Given the description of an element on the screen output the (x, y) to click on. 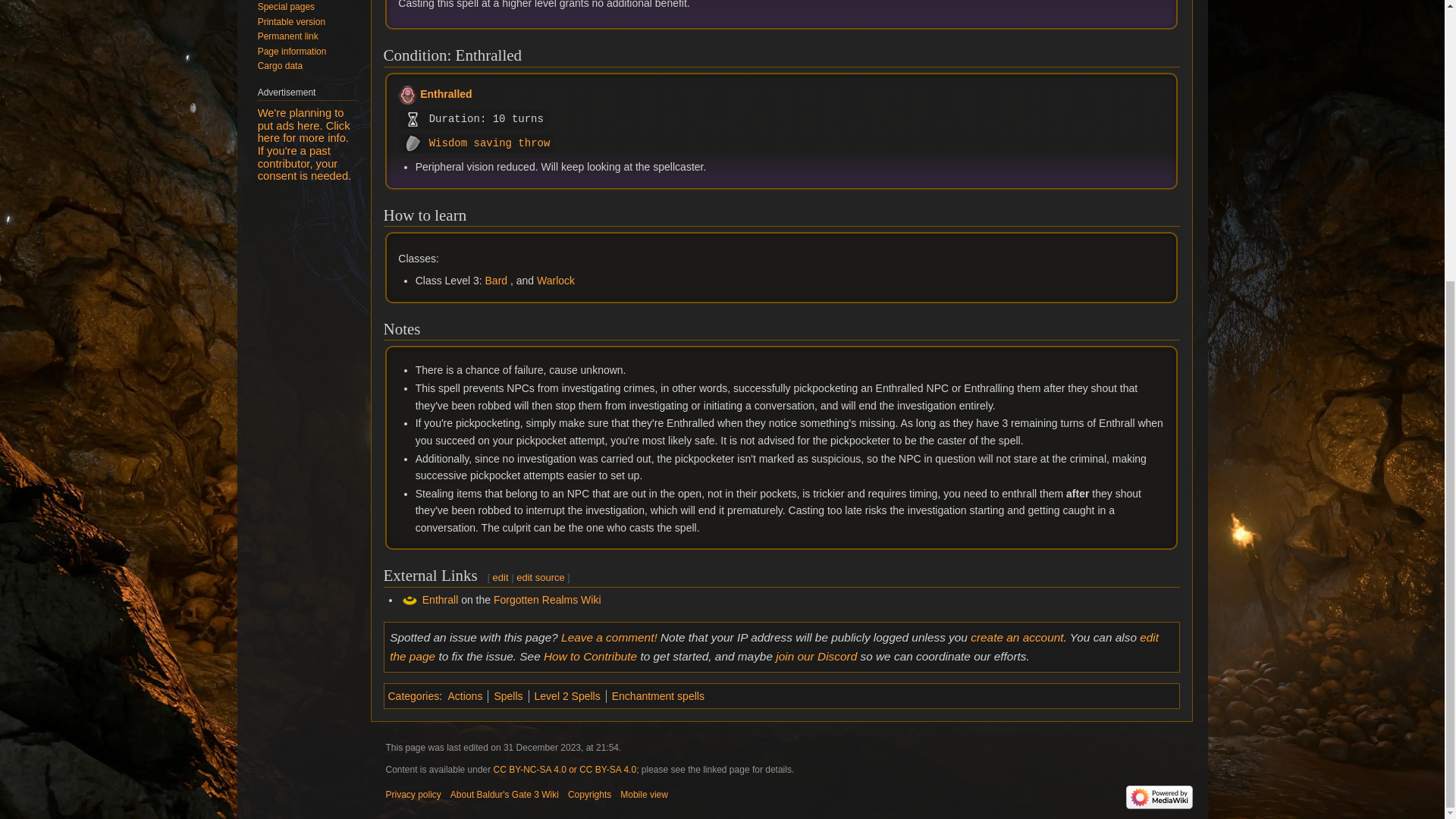
Wisdom (448, 143)
Category:Level 2 Spells (566, 695)
Help:How to Contribute (590, 656)
Wisdom (448, 143)
Category:Spells (507, 695)
Edit section: External Links (500, 577)
Level 2 Spells (566, 695)
Forgotten Realms Wiki (547, 599)
Bard (496, 280)
How to Contribute (590, 656)
edit (500, 577)
Categories (413, 695)
Actions (463, 695)
Special:Categories (413, 695)
Saving throw (512, 143)
